Given the description of an element on the screen output the (x, y) to click on. 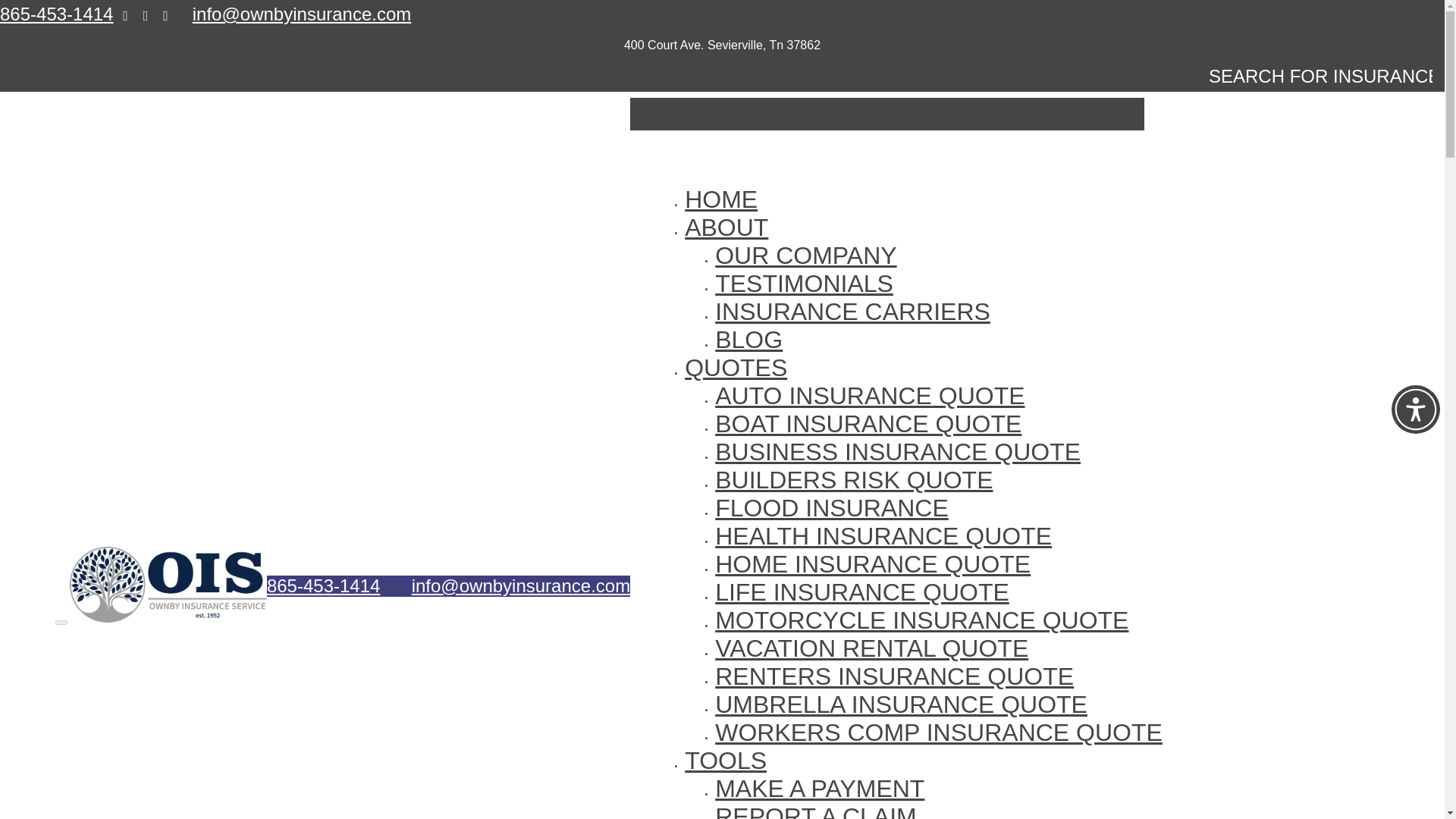
BOAT INSURANCE QUOTE (868, 423)
TESTIMONIALS (803, 283)
OUR COMPANY (805, 255)
MAKE A PAYMENT (819, 788)
UMBRELLA INSURANCE QUOTE (900, 704)
AUTO INSURANCE QUOTE (869, 395)
Accessibility Menu (1415, 409)
Builders Risk Quote (853, 479)
Auto Insurance Quote (869, 395)
Boat Insurance Quote (868, 423)
LIFE INSURANCE QUOTE (861, 592)
About (726, 226)
HOME (720, 198)
Our Company (805, 255)
QUOTES (735, 367)
